Given the description of an element on the screen output the (x, y) to click on. 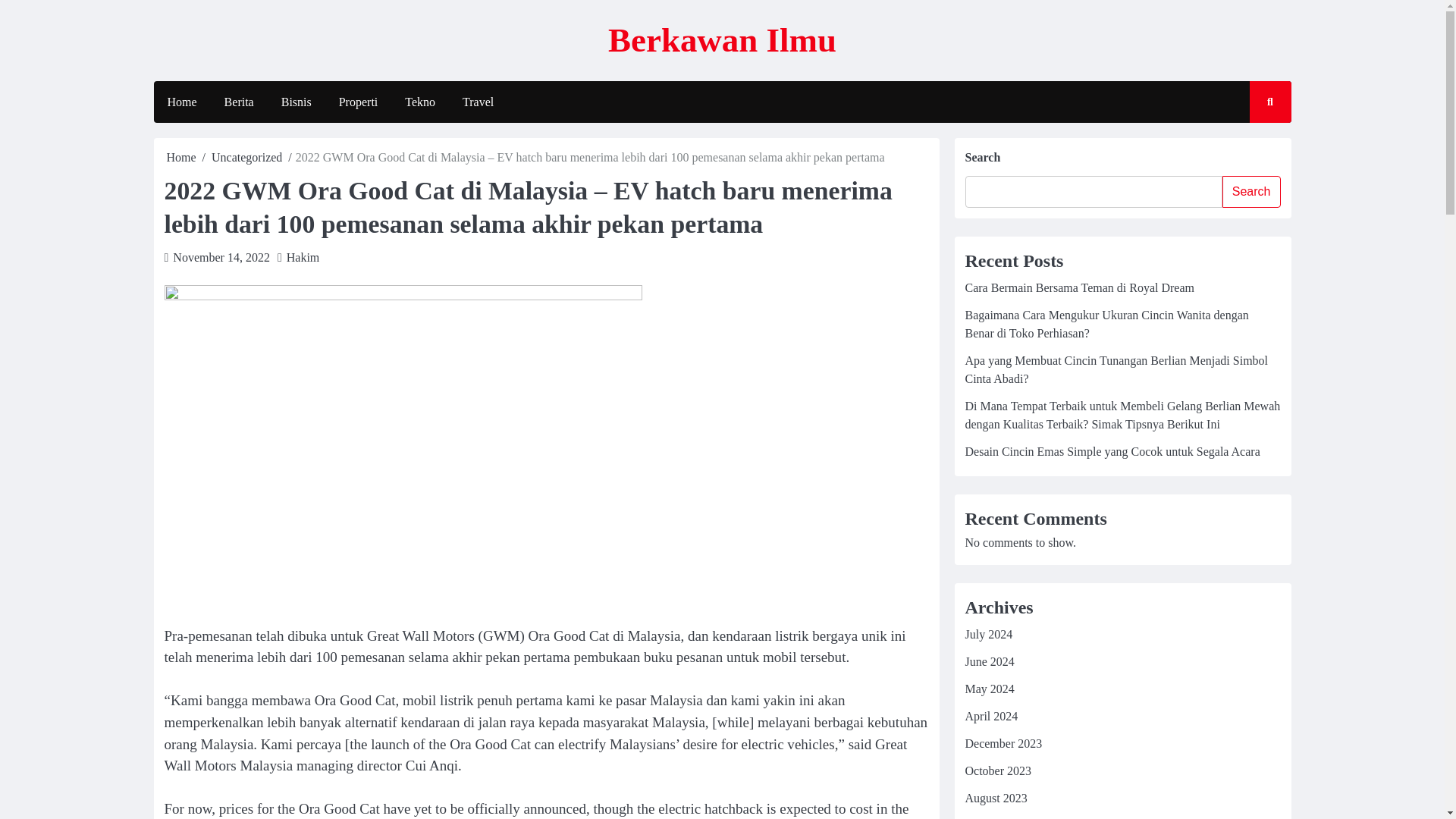
Desain Cincin Emas Simple yang Cocok untuk Segala Acara (1111, 451)
Uncategorized (246, 156)
Berita (239, 102)
Bisnis (295, 102)
Home (181, 156)
December 2023 (1002, 743)
August 2023 (994, 797)
Cara Bermain Bersama Teman di Royal Dream (1078, 287)
Home (180, 102)
November 14, 2022 (221, 256)
July 2024 (987, 634)
Search (1252, 192)
June 2024 (988, 661)
